Given the description of an element on the screen output the (x, y) to click on. 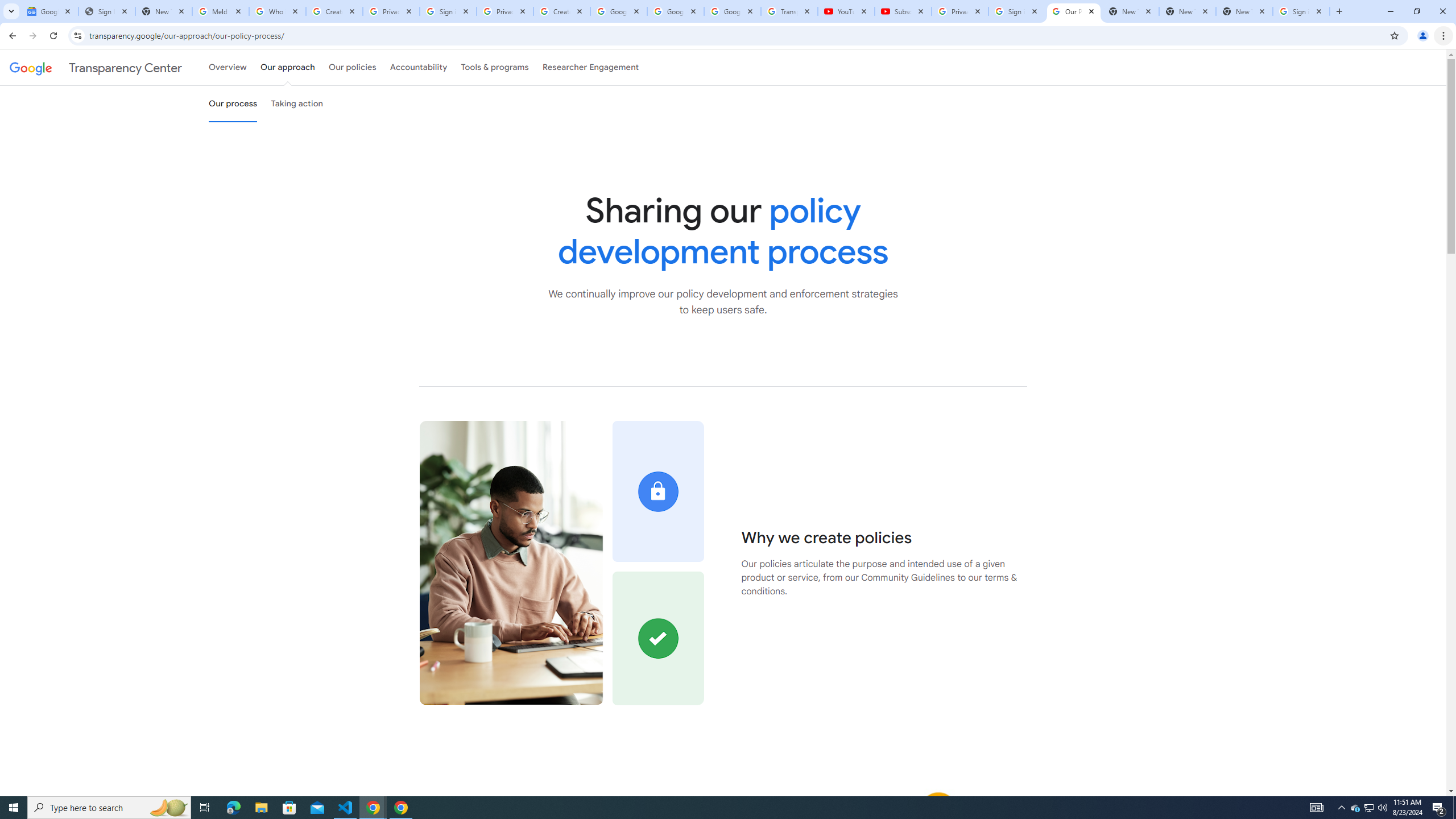
Taking action (296, 103)
Who is my administrator? - Google Account Help (277, 11)
Google Account (731, 11)
Accountability (418, 67)
Researcher Engagement (590, 67)
Subscriptions - YouTube (902, 11)
Sign in - Google Accounts (447, 11)
